Given the description of an element on the screen output the (x, y) to click on. 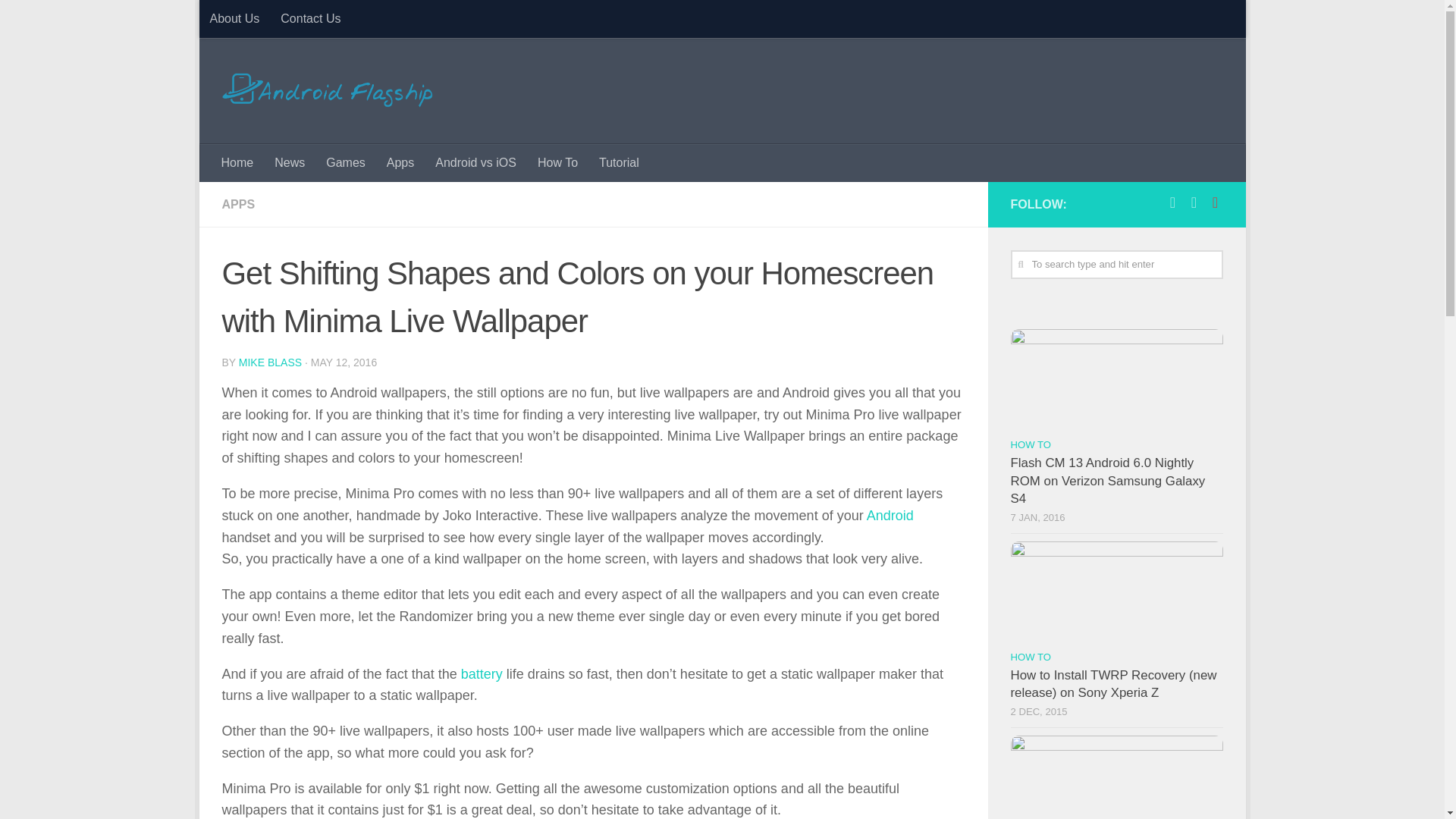
Tutorial (618, 162)
Posts by Mike Blass (269, 362)
To search type and hit enter (1116, 264)
Contact Us (309, 18)
Follow us on Twitter (1193, 201)
News (289, 162)
Home (237, 162)
Android (890, 515)
Games (345, 162)
Android vs iOS (476, 162)
